Given the description of an element on the screen output the (x, y) to click on. 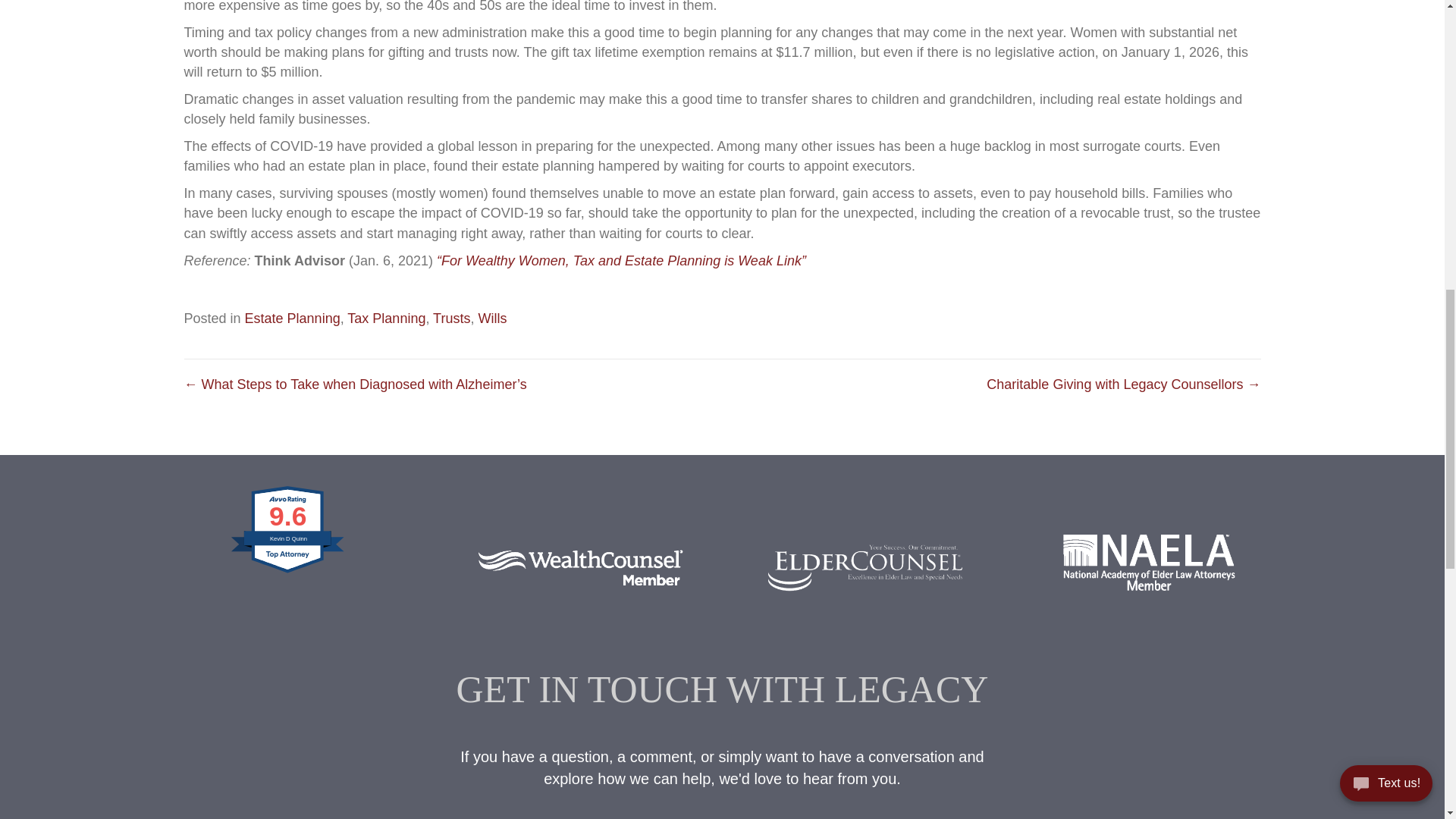
Legacy-Logos1 (863, 562)
Legacy-Logos2 (579, 562)
Legacy-Logos3 (1149, 562)
